Given the description of an element on the screen output the (x, y) to click on. 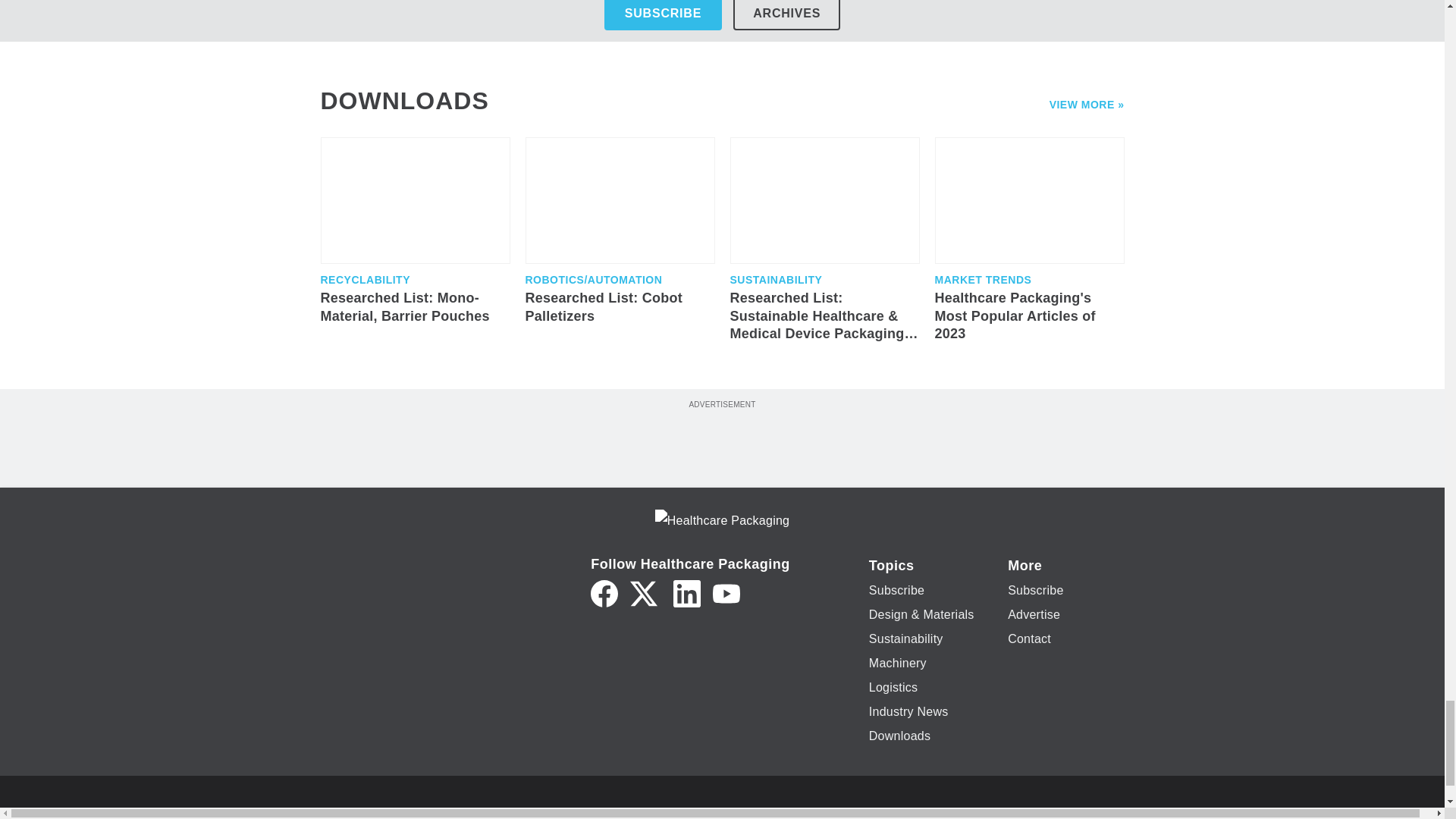
LinkedIn icon (686, 593)
YouTube icon (726, 593)
Twitter X icon (644, 593)
Facebook icon (604, 593)
